Given the description of an element on the screen output the (x, y) to click on. 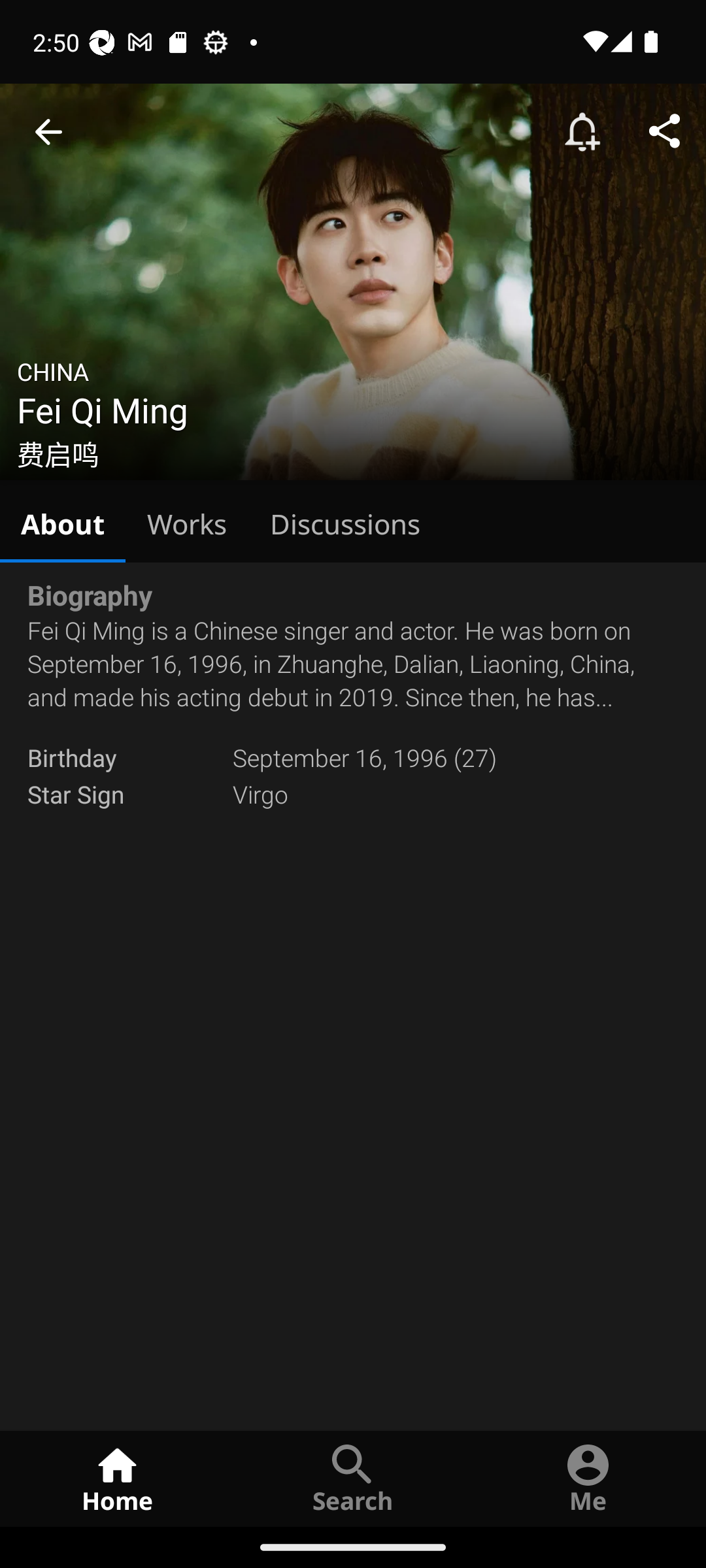
Follow (582, 131)
Share (664, 131)
Works (187, 520)
Discussions (345, 520)
Search (352, 1478)
Me (588, 1478)
